Given the description of an element on the screen output the (x, y) to click on. 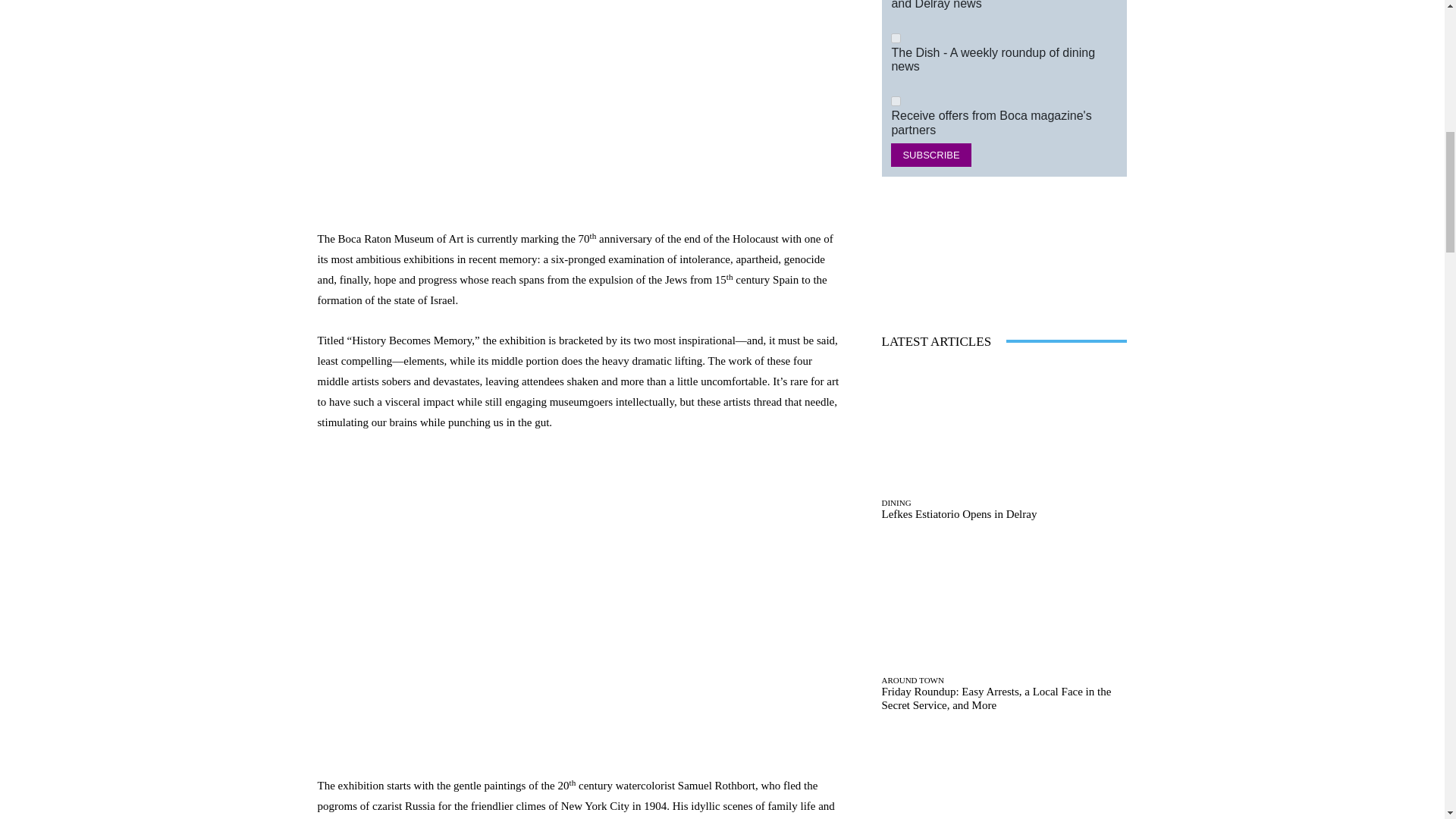
SUBSCRIBE (931, 155)
Receive offers from Boca magazine's partners (896, 101)
The Dish - A weekly roundup of dining news (896, 38)
